Given the description of an element on the screen output the (x, y) to click on. 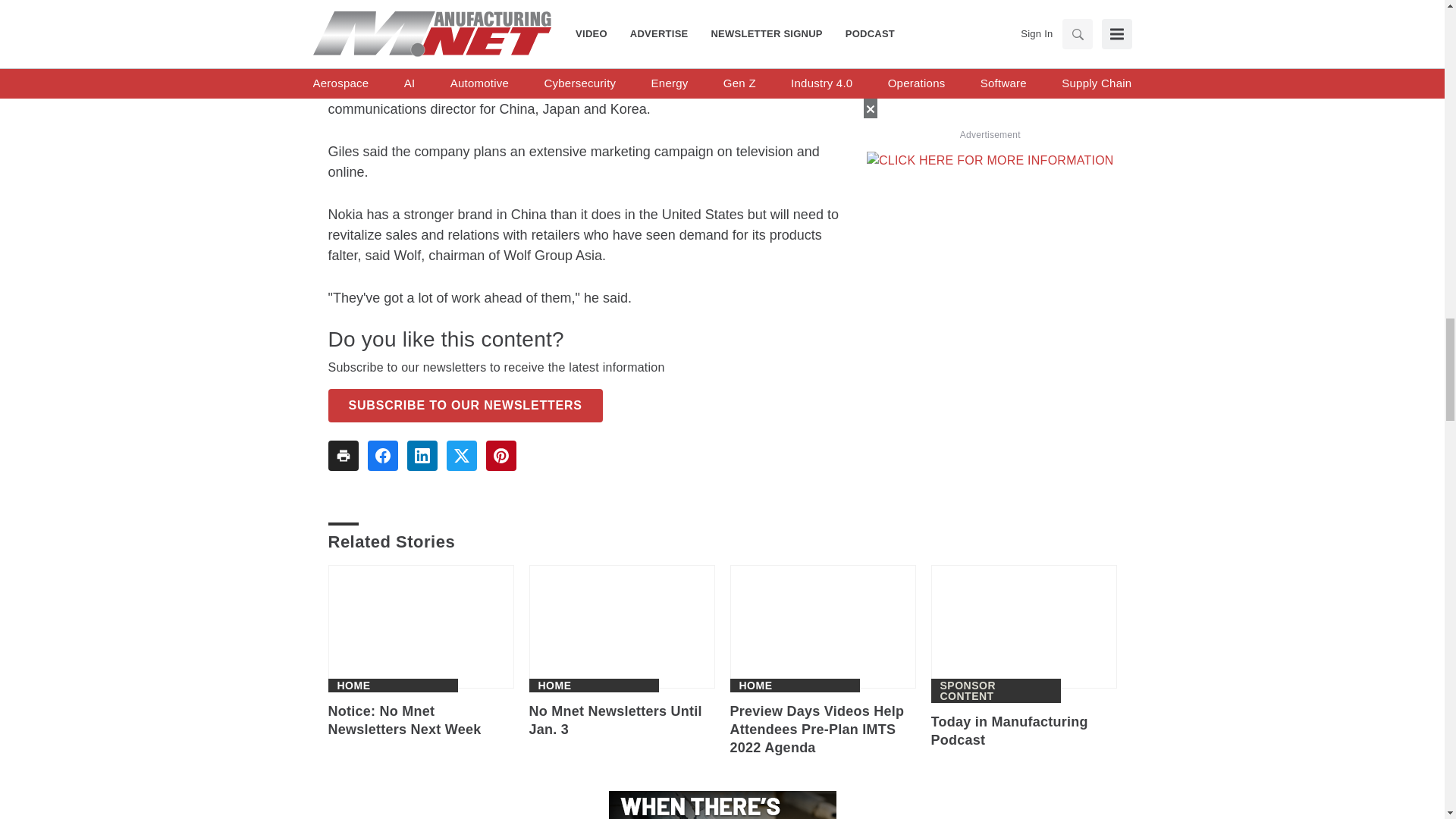
Share To pinterest (499, 455)
Share To facebook (381, 455)
Share To print (342, 455)
Share To linkedin (421, 455)
Share To twitter (460, 455)
